Given the description of an element on the screen output the (x, y) to click on. 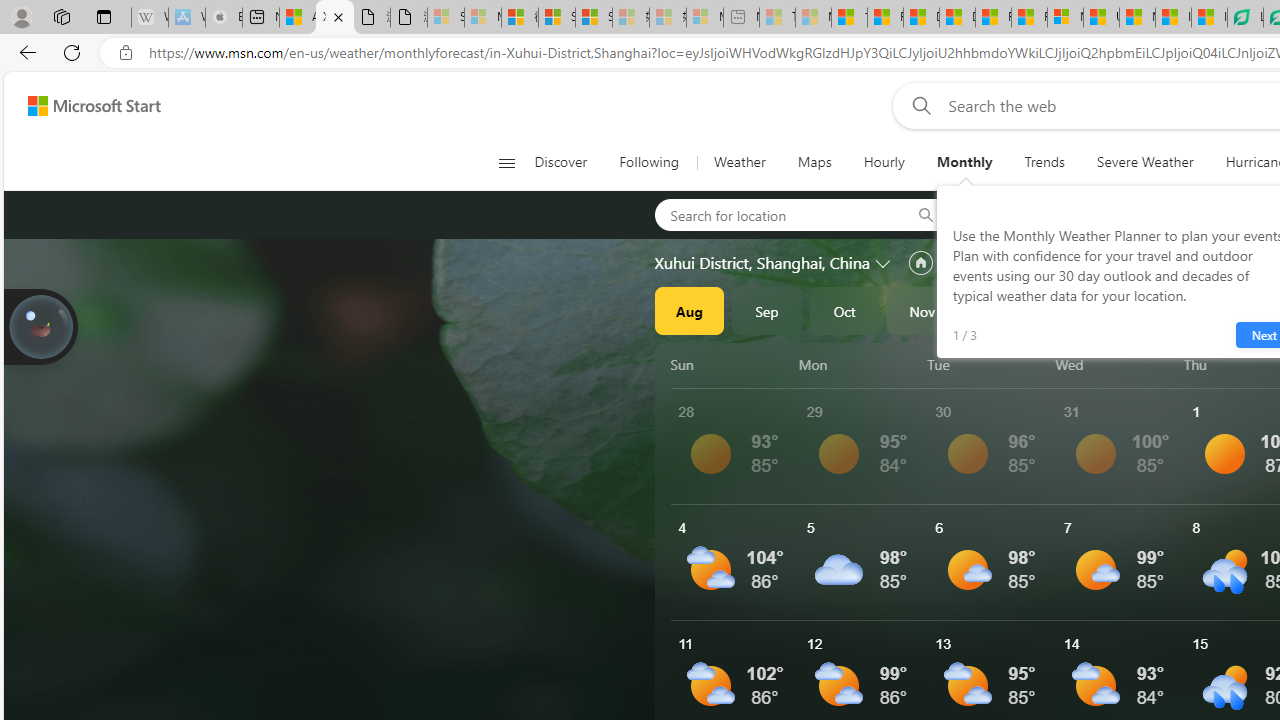
Foo BAR | Trusted Community Engagement and Contributions (1029, 17)
Microsoft account | Account Checkup - Sleeping (705, 17)
Mar (1233, 310)
Feb (1155, 310)
Trends (1044, 162)
Change location (884, 262)
